Given the description of an element on the screen output the (x, y) to click on. 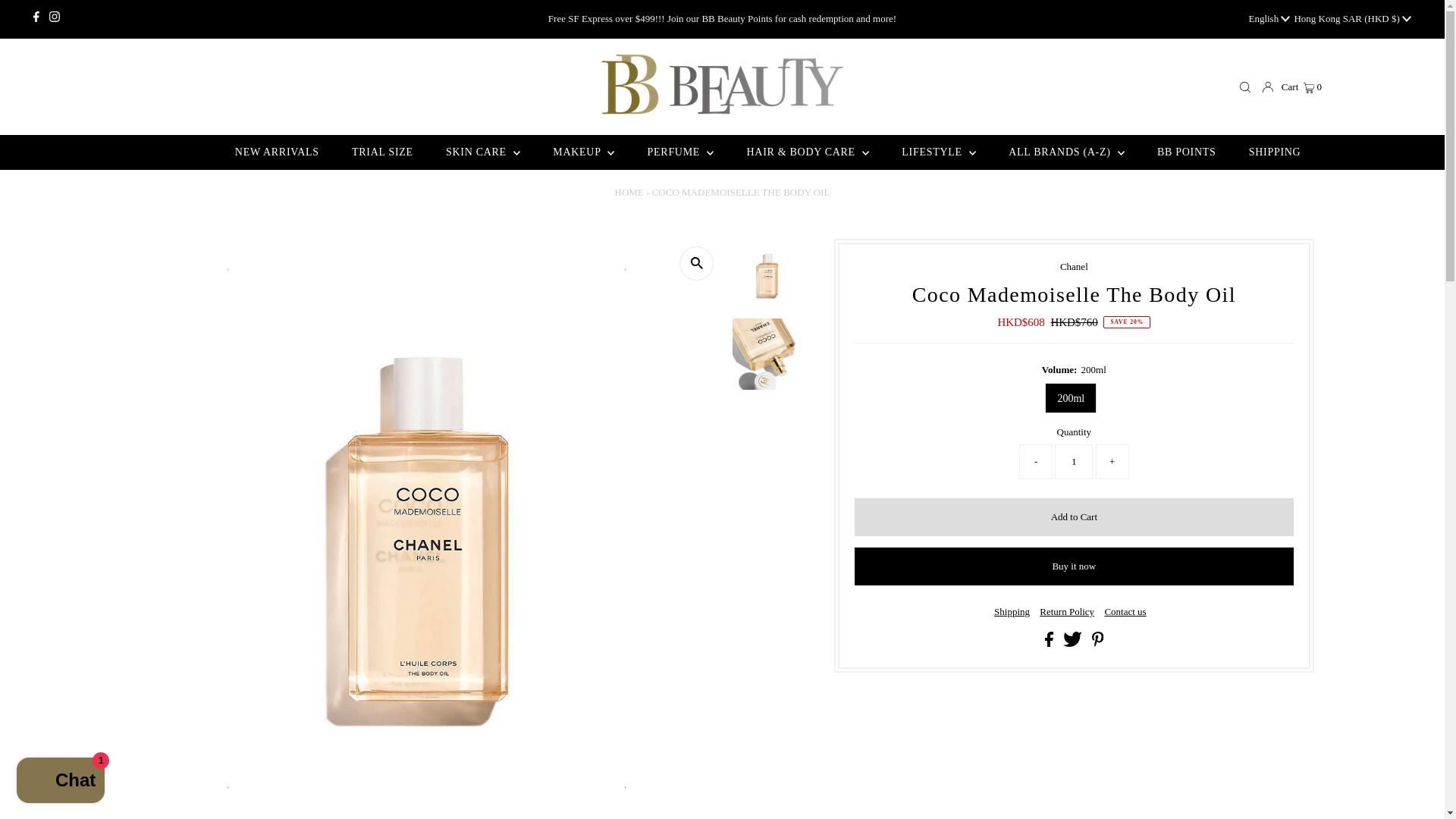
Add to Cart (1074, 516)
1 (1073, 461)
